Given the description of an element on the screen output the (x, y) to click on. 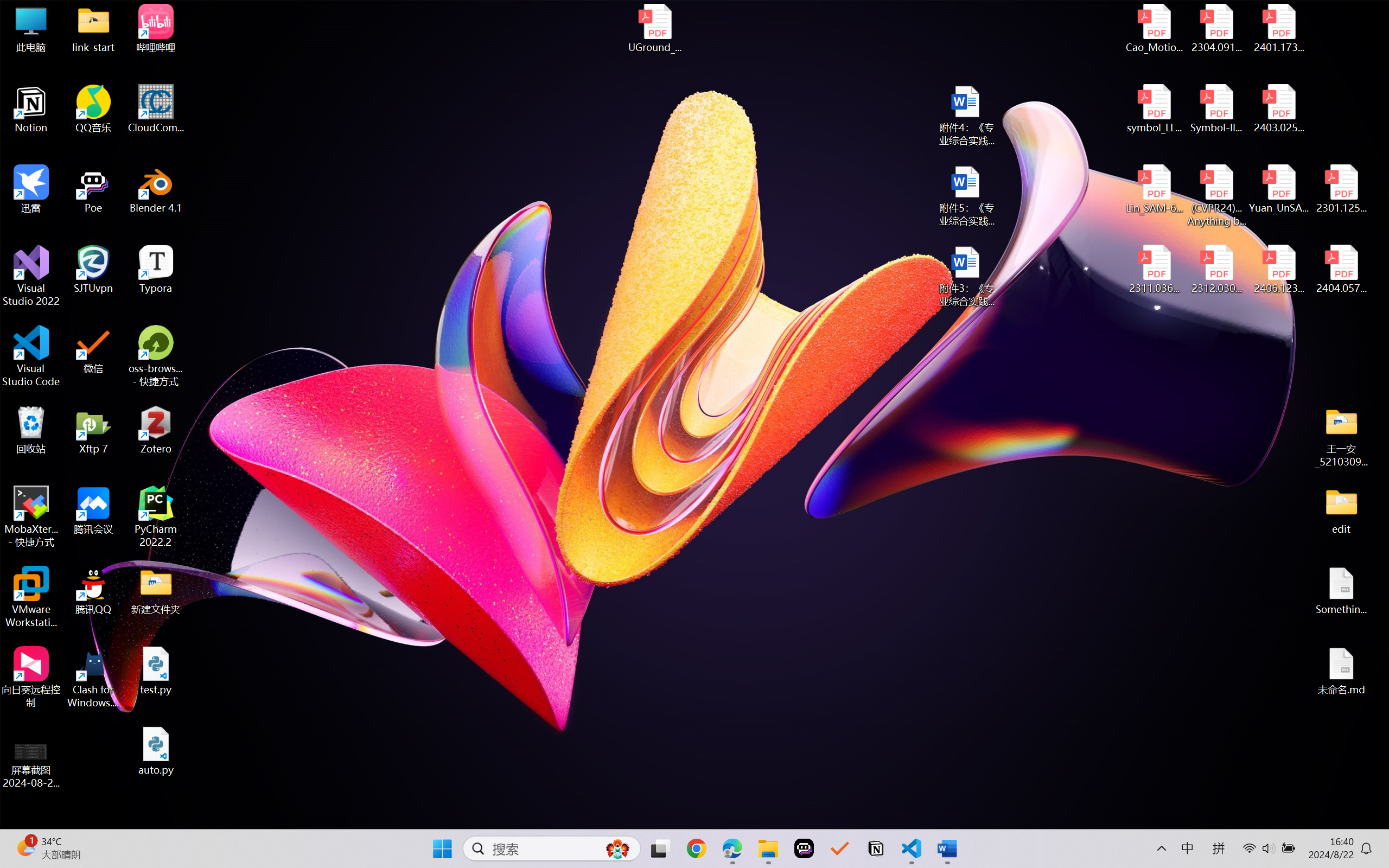
2401.17399v1.pdf (1278, 28)
Symbol-llm-v2.pdf (1216, 109)
UGround_paper.pdf (654, 28)
edit (1340, 510)
Notion (31, 109)
Poe (93, 189)
Poe (804, 848)
